Given the description of an element on the screen output the (x, y) to click on. 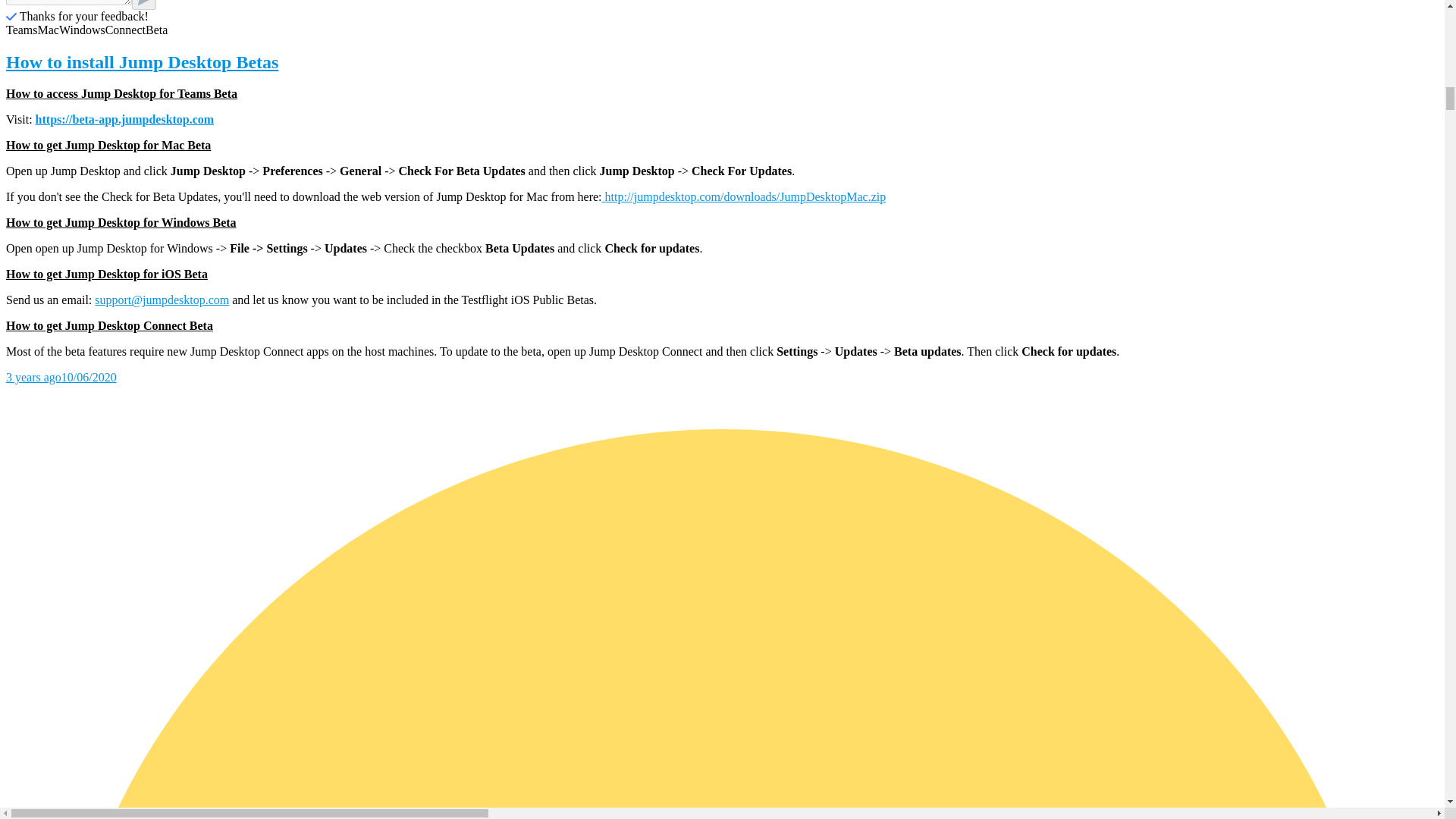
Submit Button (143, 4)
How to install Jump Desktop Betas (721, 61)
